Given the description of an element on the screen output the (x, y) to click on. 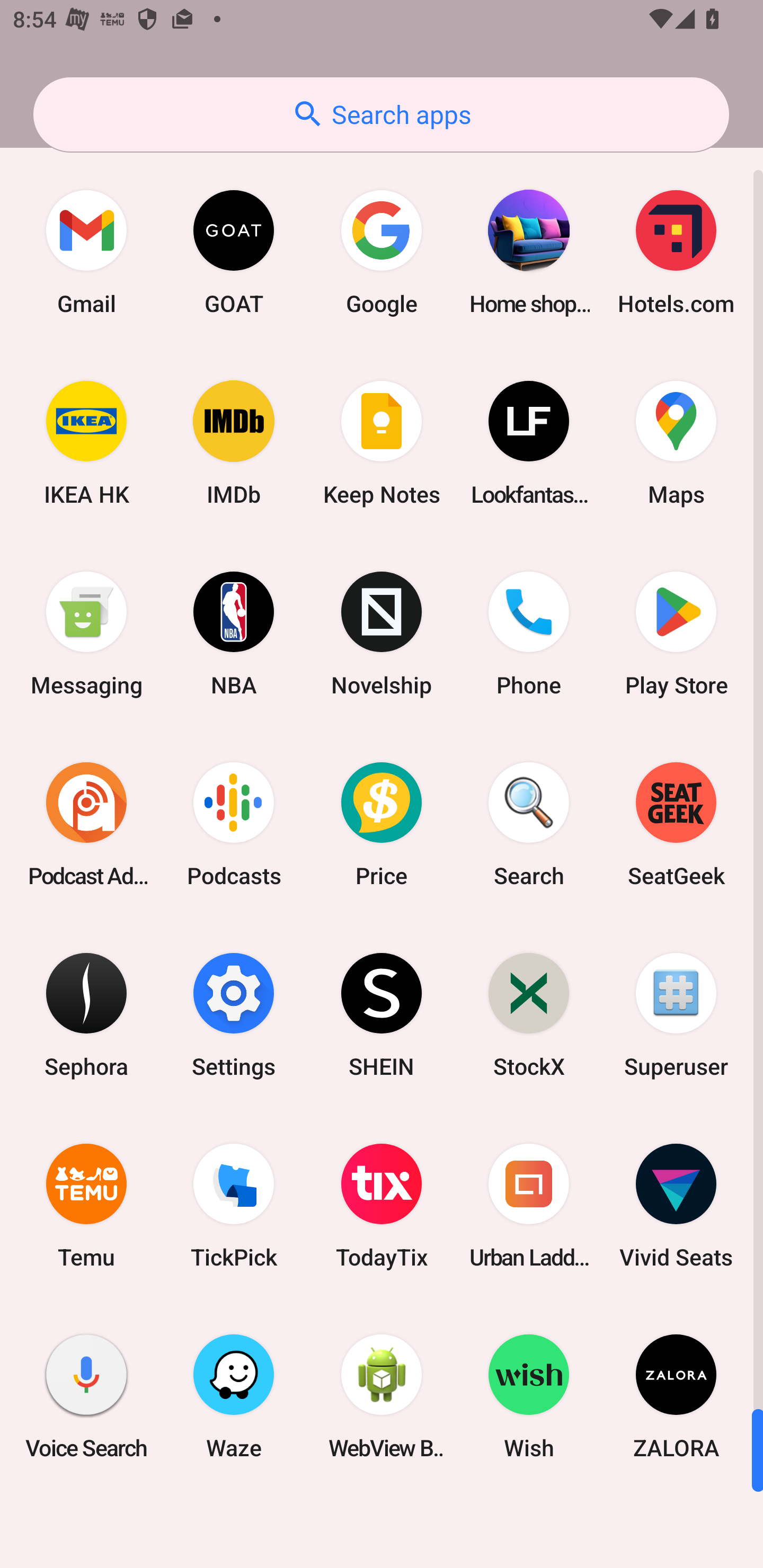
  Search apps (381, 114)
Gmail (86, 252)
GOAT (233, 252)
Google (381, 252)
Home shopping (528, 252)
Hotels.com (676, 252)
IKEA HK (86, 442)
IMDb (233, 442)
Keep Notes (381, 442)
Lookfantastic (528, 442)
Maps (676, 442)
Messaging (86, 633)
NBA (233, 633)
Novelship (381, 633)
Phone (528, 633)
Play Store (676, 633)
Podcast Addict (86, 823)
Podcasts (233, 823)
Price (381, 823)
Search (528, 823)
SeatGeek (676, 823)
Sephora (86, 1014)
Settings (233, 1014)
SHEIN (381, 1014)
StockX (528, 1014)
Superuser (676, 1014)
Temu (86, 1205)
TickPick (233, 1205)
TodayTix (381, 1205)
Urban Ladder (528, 1205)
Vivid Seats (676, 1205)
Voice Search (86, 1396)
Waze (233, 1396)
WebView Browser Tester (381, 1396)
Wish (528, 1396)
ZALORA (676, 1396)
